Given the description of an element on the screen output the (x, y) to click on. 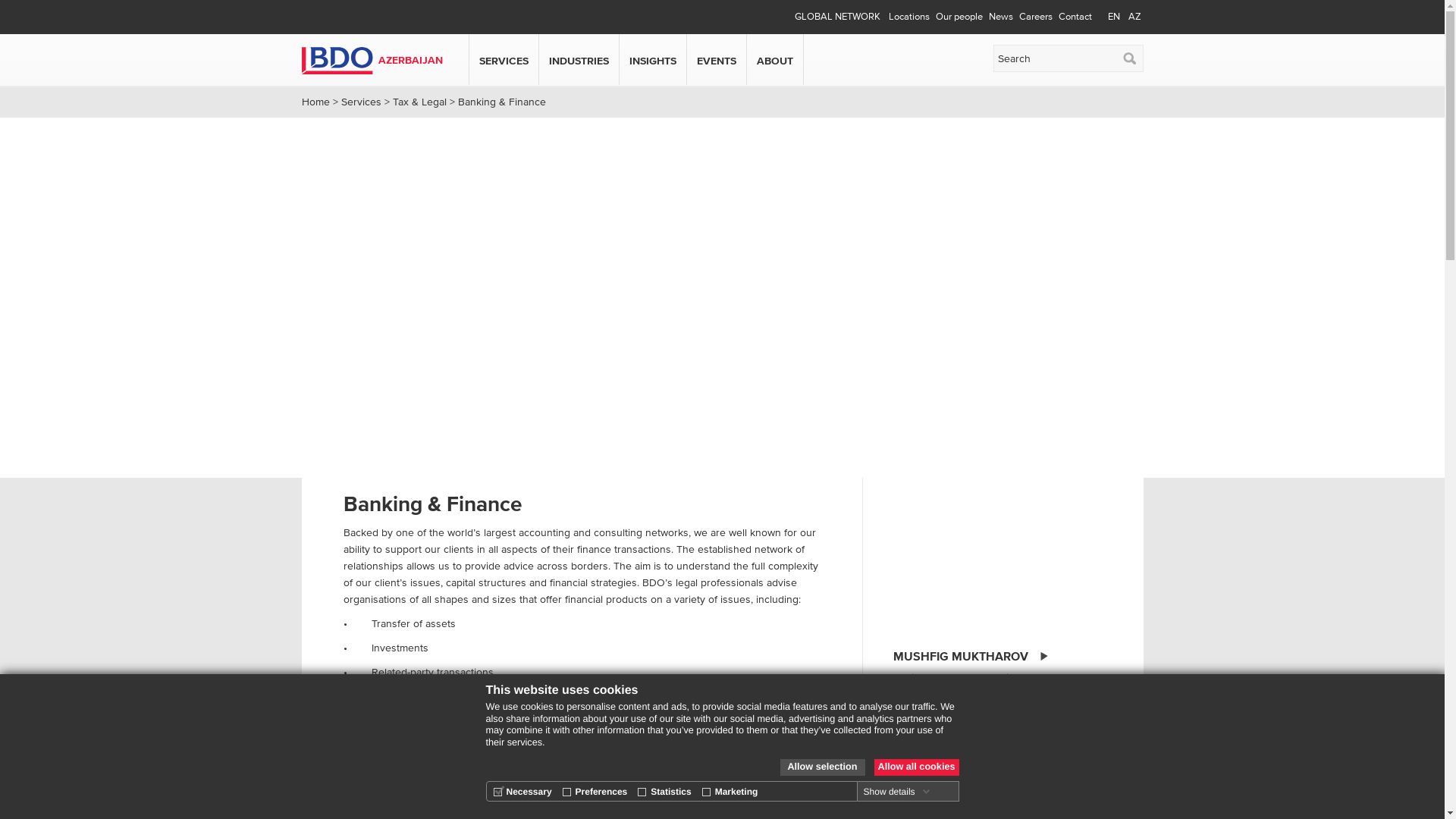
INSIGHTS Element type: text (652, 61)
Show details Element type: text (896, 791)
Our people Element type: text (958, 16)
Contact Element type: text (1075, 16)
INDUSTRIES Element type: text (578, 61)
ABOUT Element type: text (774, 61)
AZ Element type: text (1134, 16)
Home Element type: text (315, 101)
EVENTS Element type: text (715, 61)
SERVICES Element type: text (503, 61)
GLOBAL NETWORK Element type: text (837, 16)
MUSHFIG MUKTHAROV Element type: text (970, 656)
Tax & Legal Element type: text (419, 101)
News Element type: text (1000, 16)
Allow all cookies Element type: text (915, 767)
Careers Element type: text (1035, 16)
Services Element type: text (361, 101)
Locations Element type: text (908, 16)
Search Element type: text (1128, 58)
Allow selection Element type: text (821, 767)
